Given the description of an element on the screen output the (x, y) to click on. 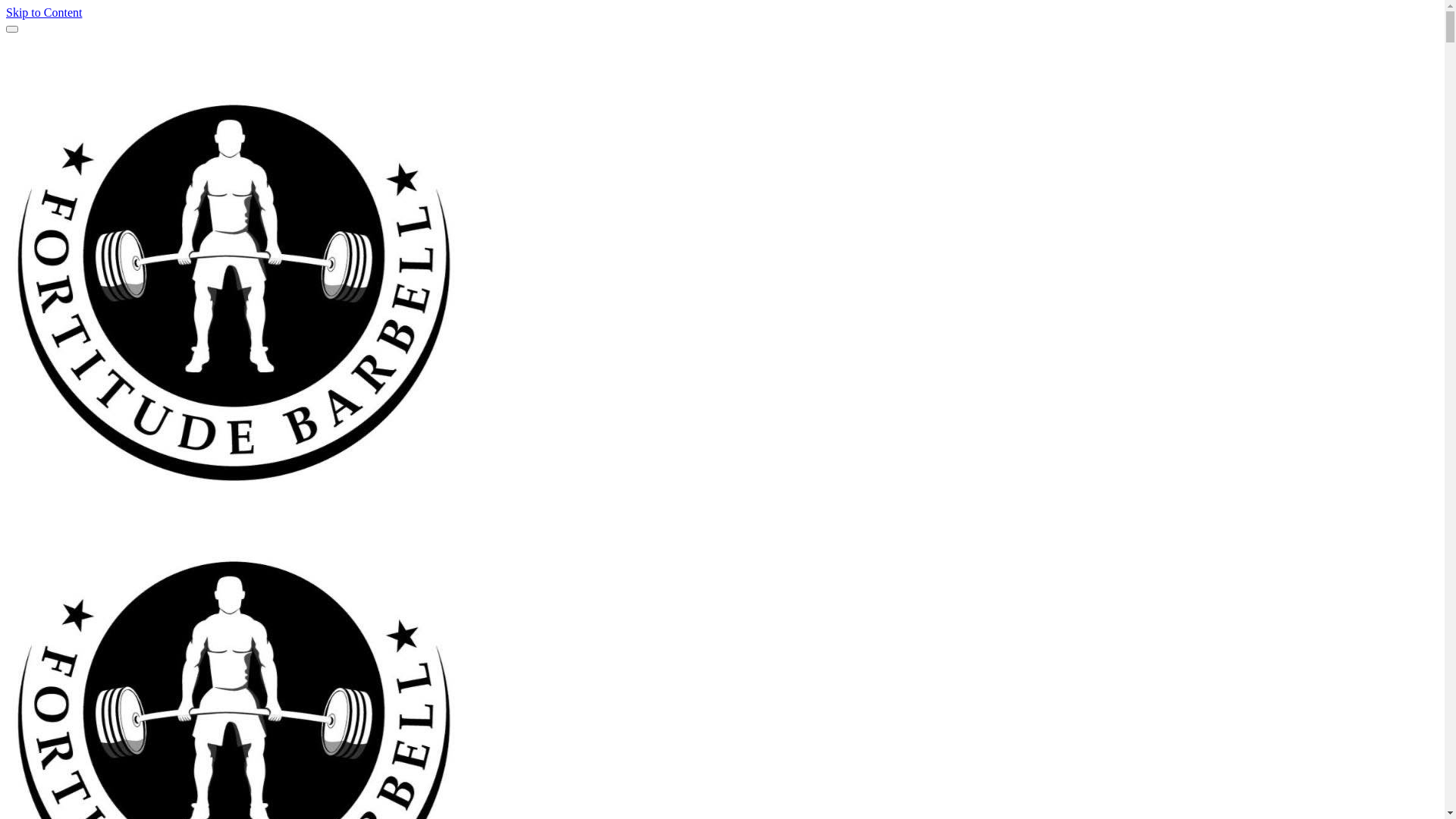
Skip to Content Element type: text (43, 12)
